Given the description of an element on the screen output the (x, y) to click on. 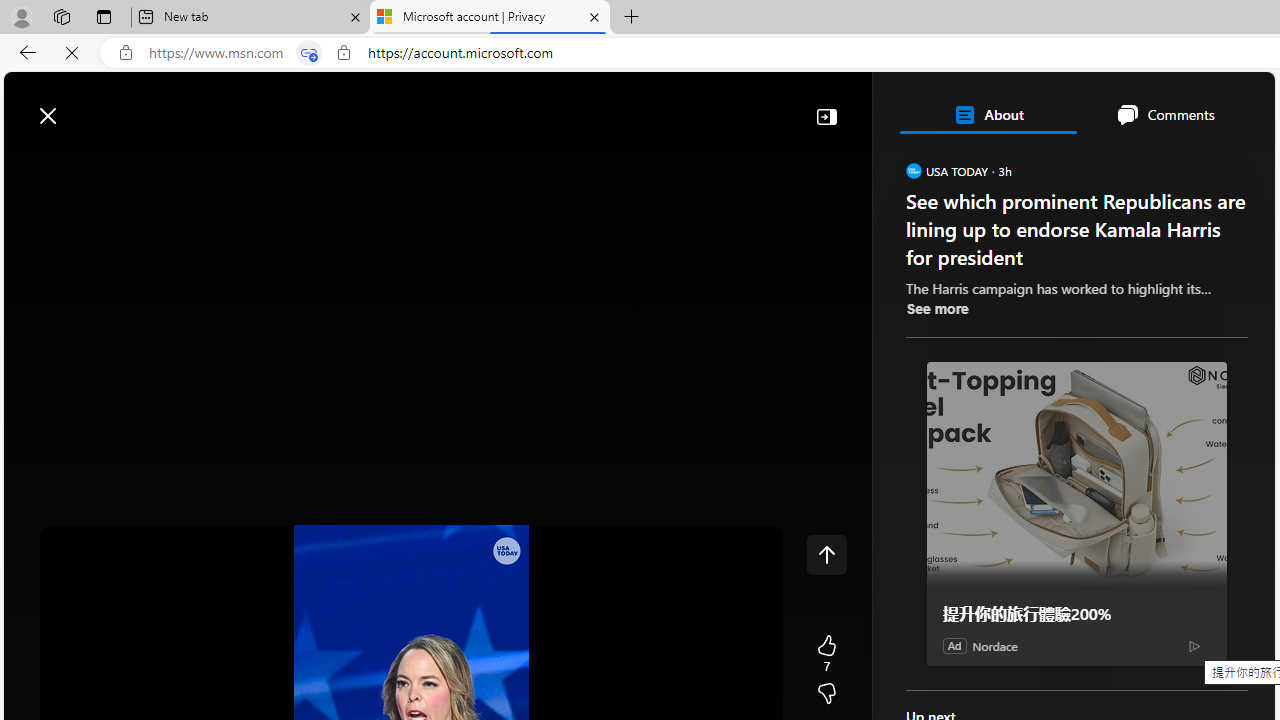
About (987, 114)
The Seeing Eye (1020, 439)
